Given the description of an element on the screen output the (x, y) to click on. 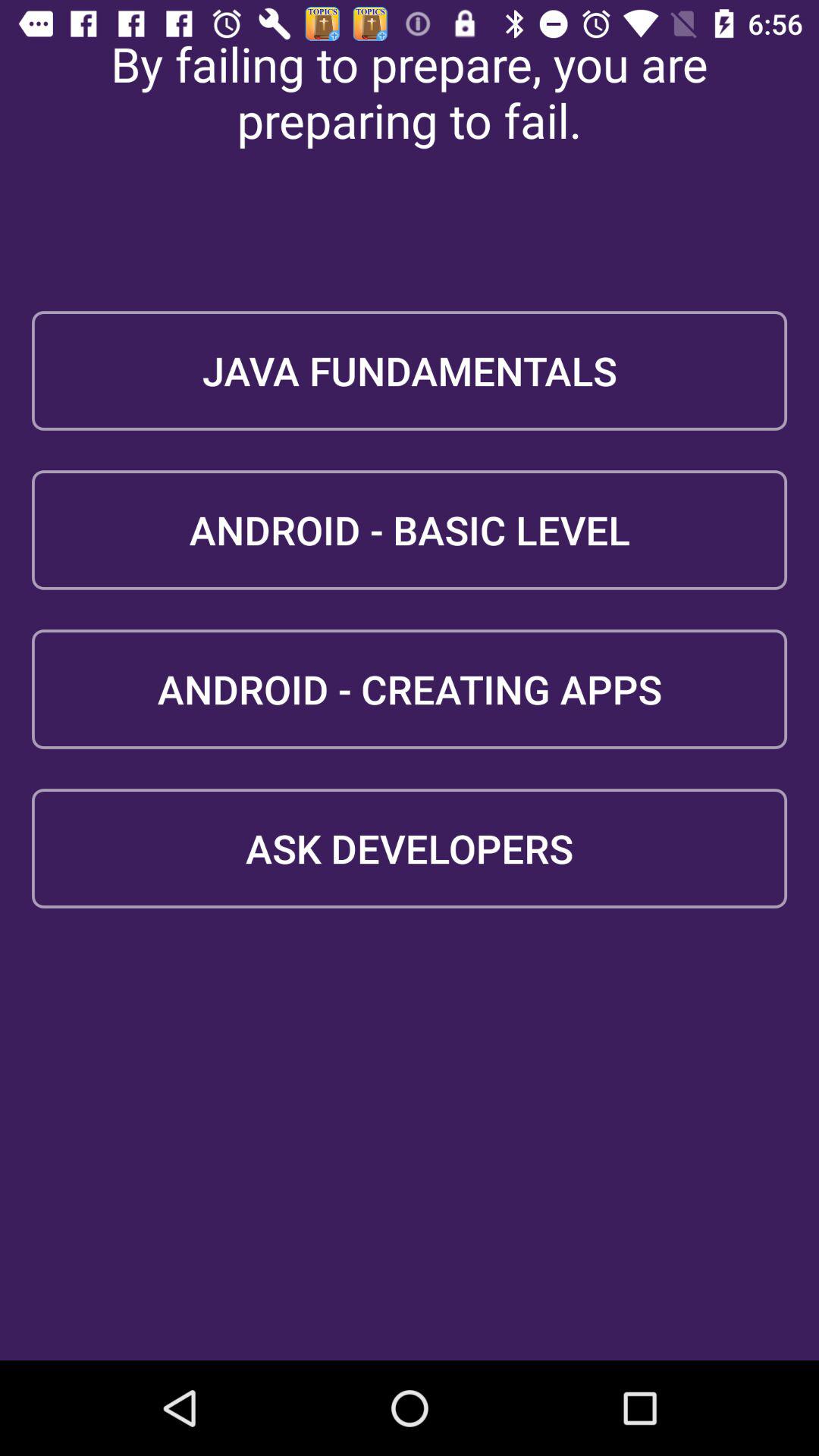
swipe until the java fundamentals icon (409, 370)
